Given the description of an element on the screen output the (x, y) to click on. 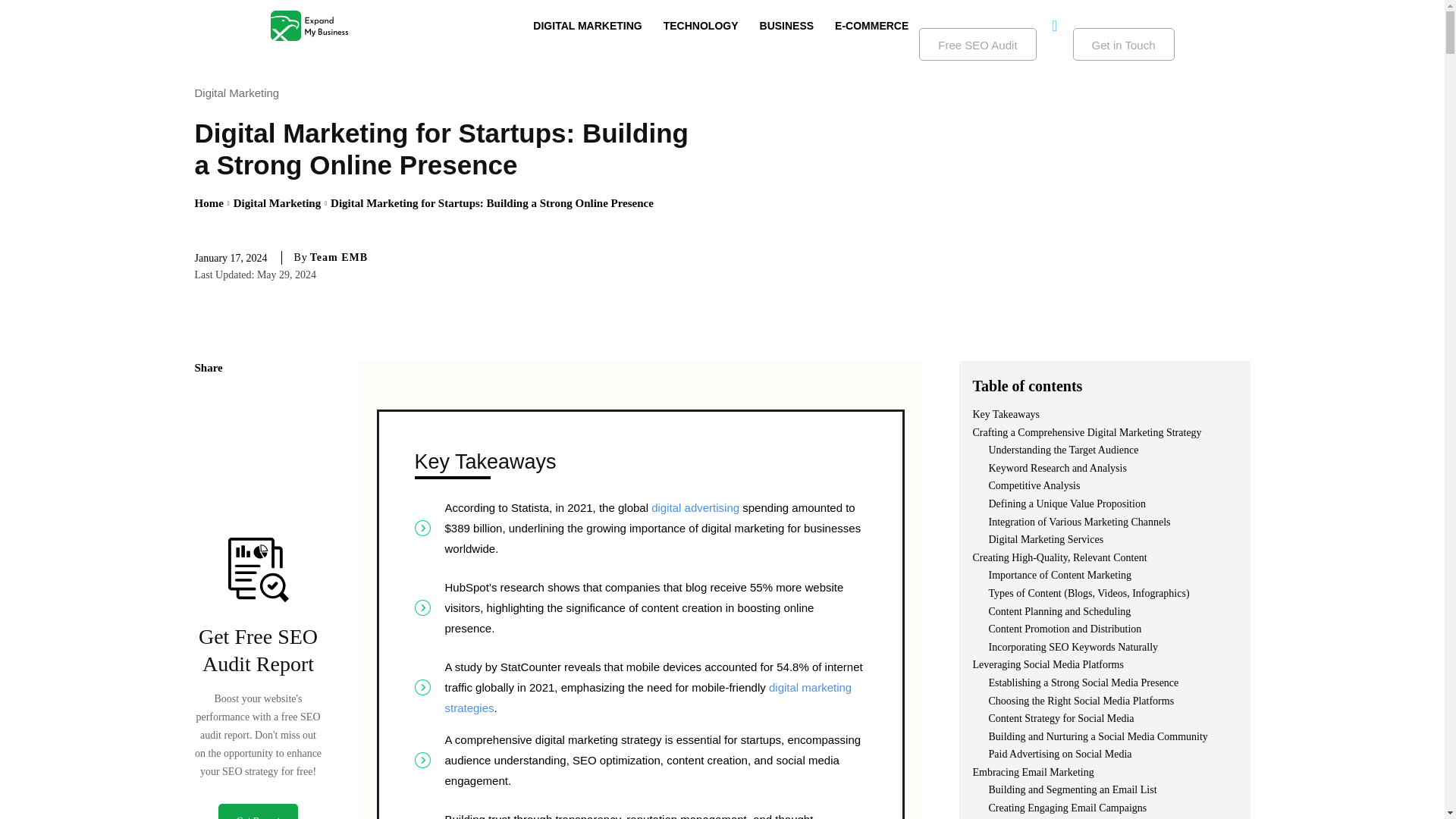
Free SEO Audit (977, 43)
Expand My Business (308, 25)
digital advertising (694, 507)
BUSINESS (787, 25)
E-COMMERCE (871, 25)
Digital Marketing (276, 203)
digital advertising (694, 507)
Digital Marketing (239, 92)
Home (207, 203)
Get Report (258, 811)
